Given the description of an element on the screen output the (x, y) to click on. 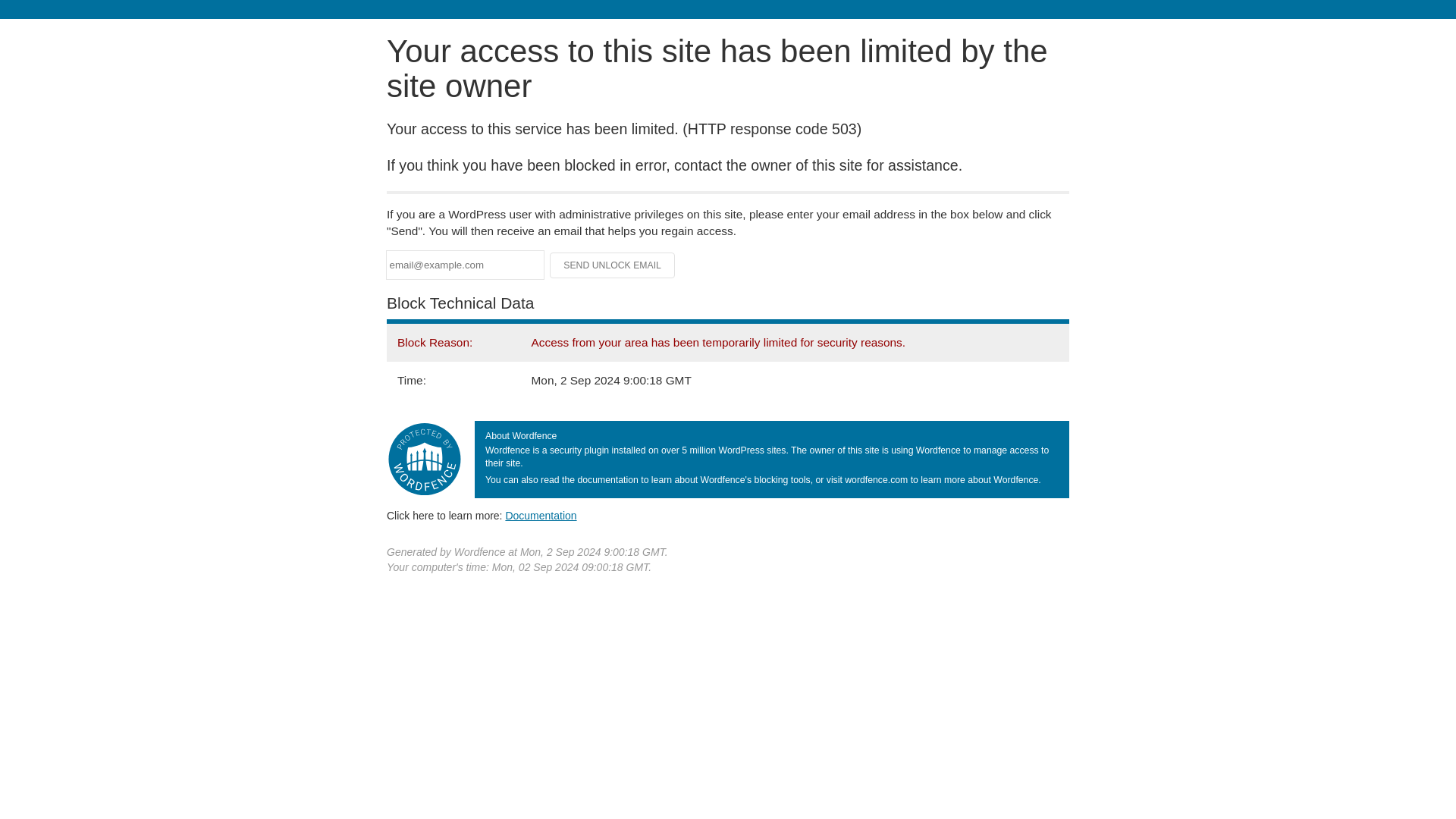
Send Unlock Email (612, 265)
Send Unlock Email (612, 265)
Documentation (540, 515)
